Given the description of an element on the screen output the (x, y) to click on. 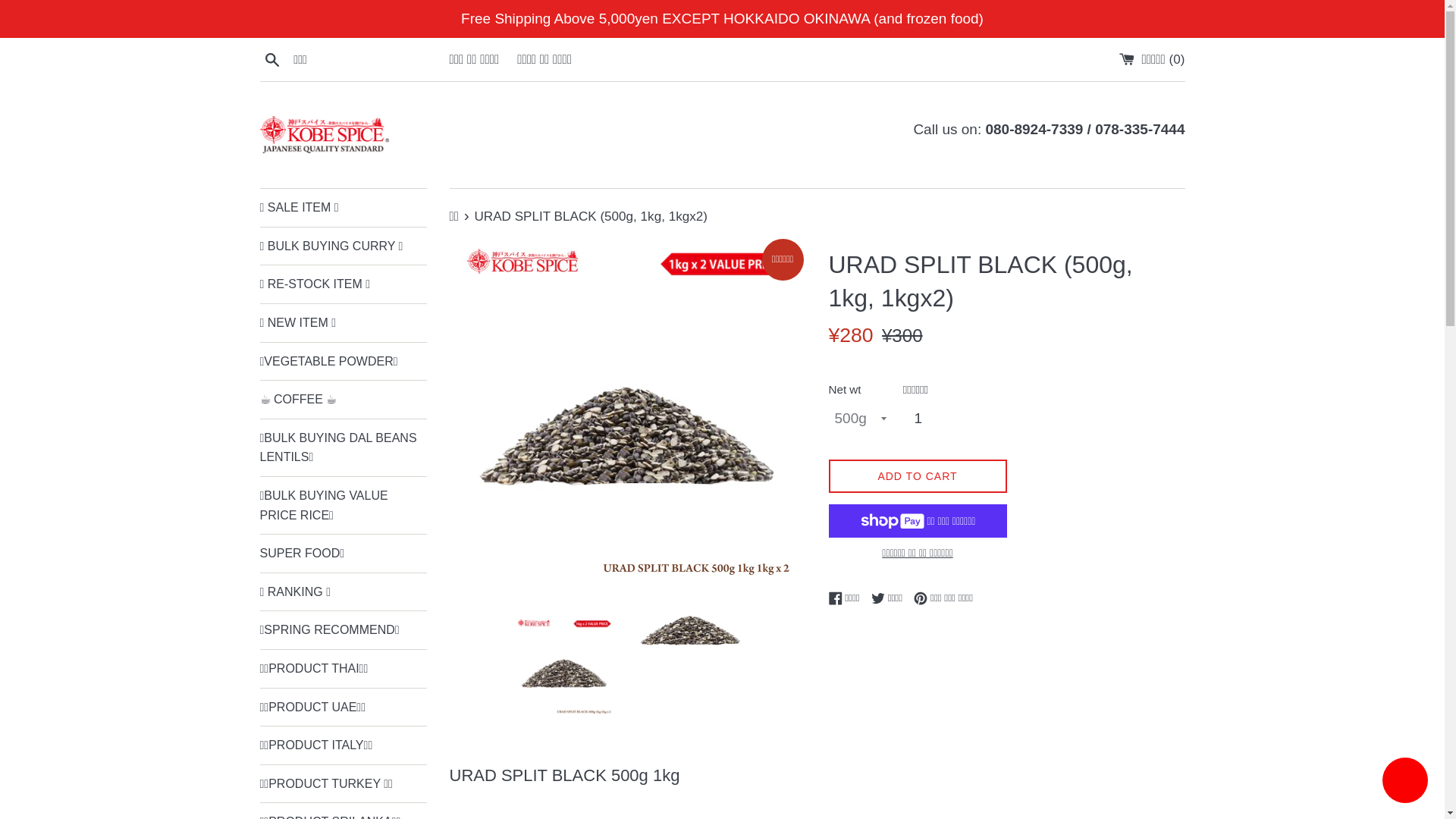
1 (923, 418)
